Given the description of an element on the screen output the (x, y) to click on. 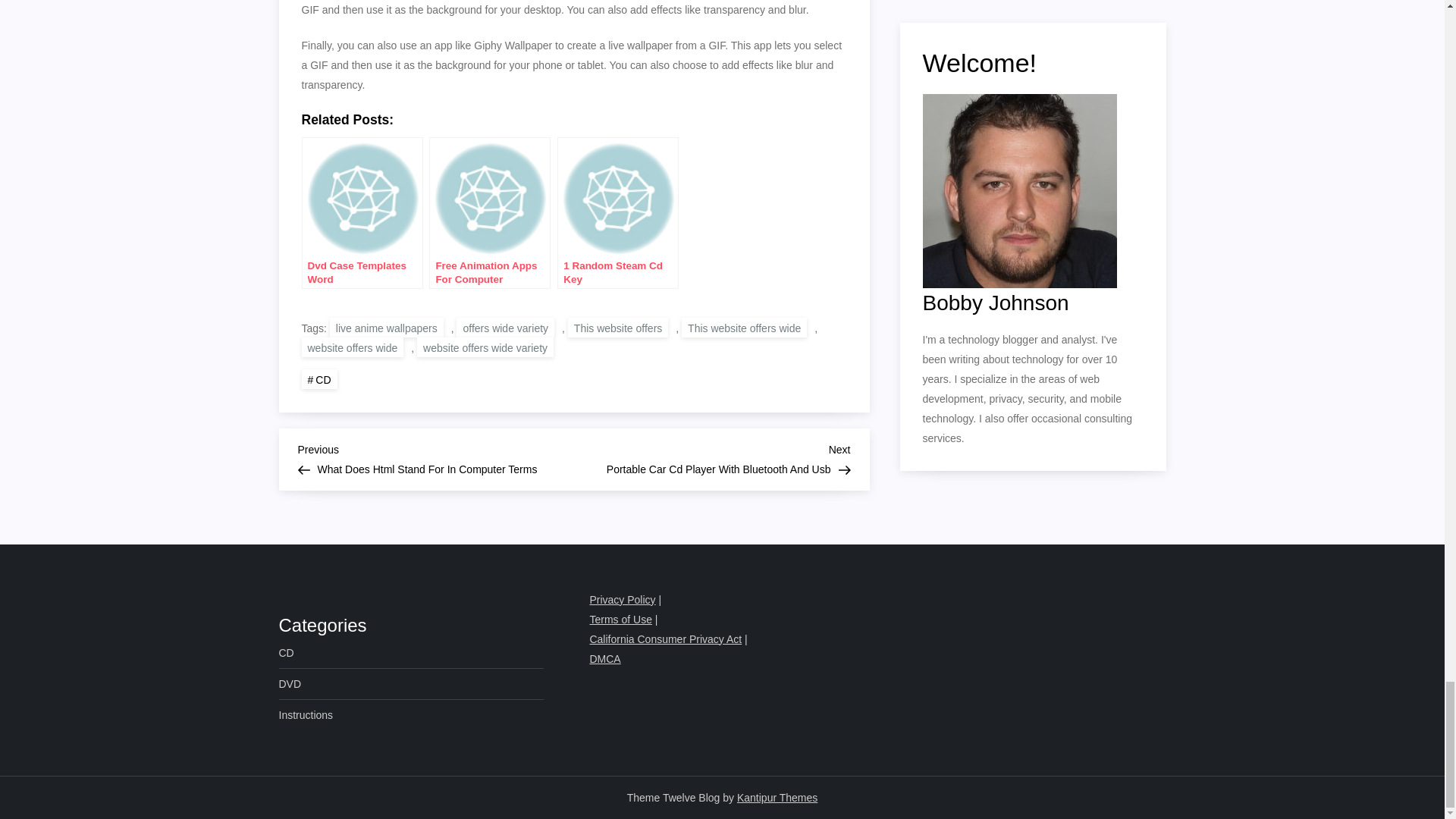
This website offers wide (743, 327)
website offers wide variety (711, 457)
website offers wide (484, 347)
live anime wallpapers (352, 347)
DVD (387, 327)
offers wide variety (290, 683)
Instructions (505, 327)
This website offers (306, 714)
CD (617, 327)
